Given the description of an element on the screen output the (x, y) to click on. 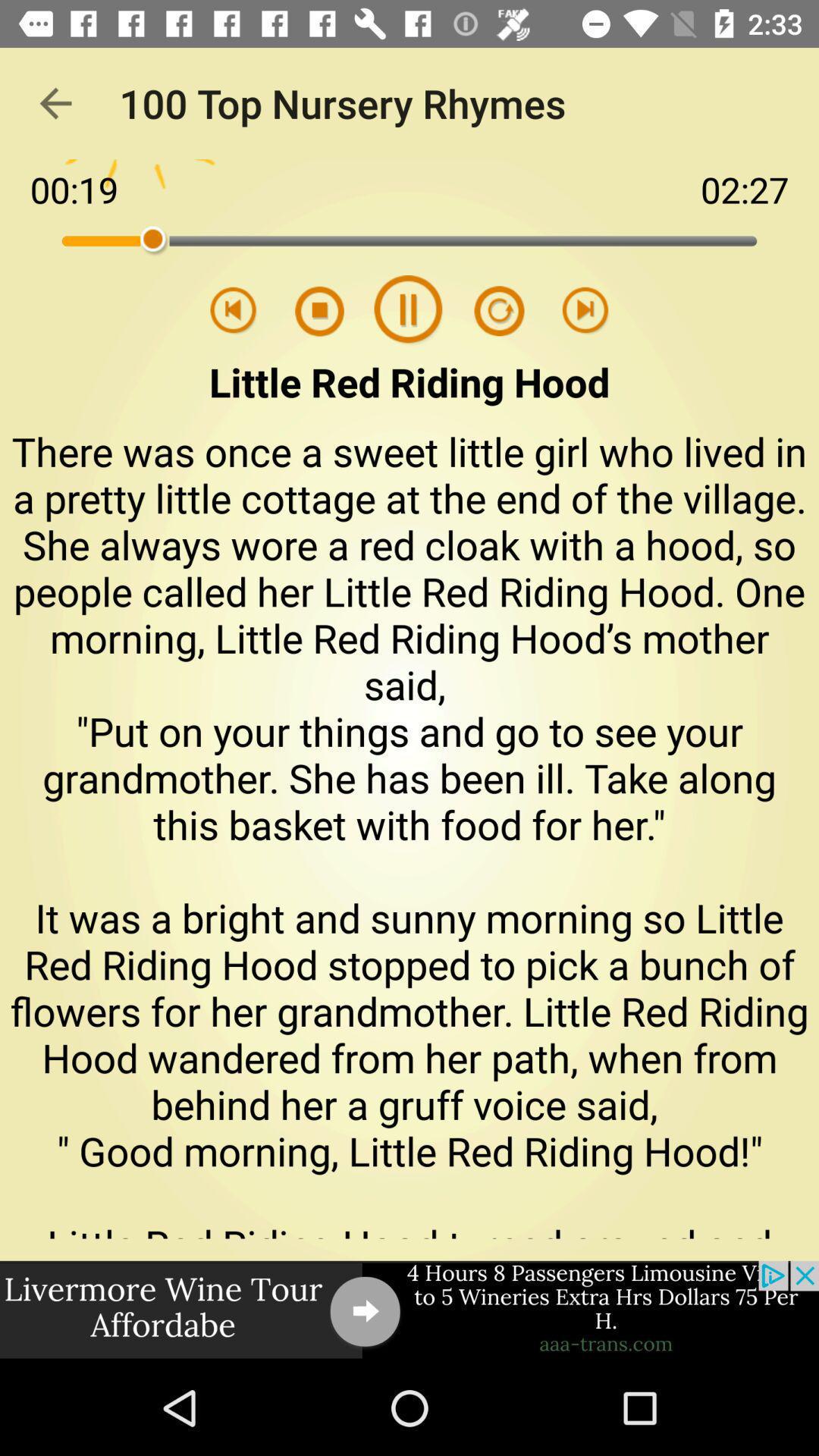
go to next (585, 310)
